Given the description of an element on the screen output the (x, y) to click on. 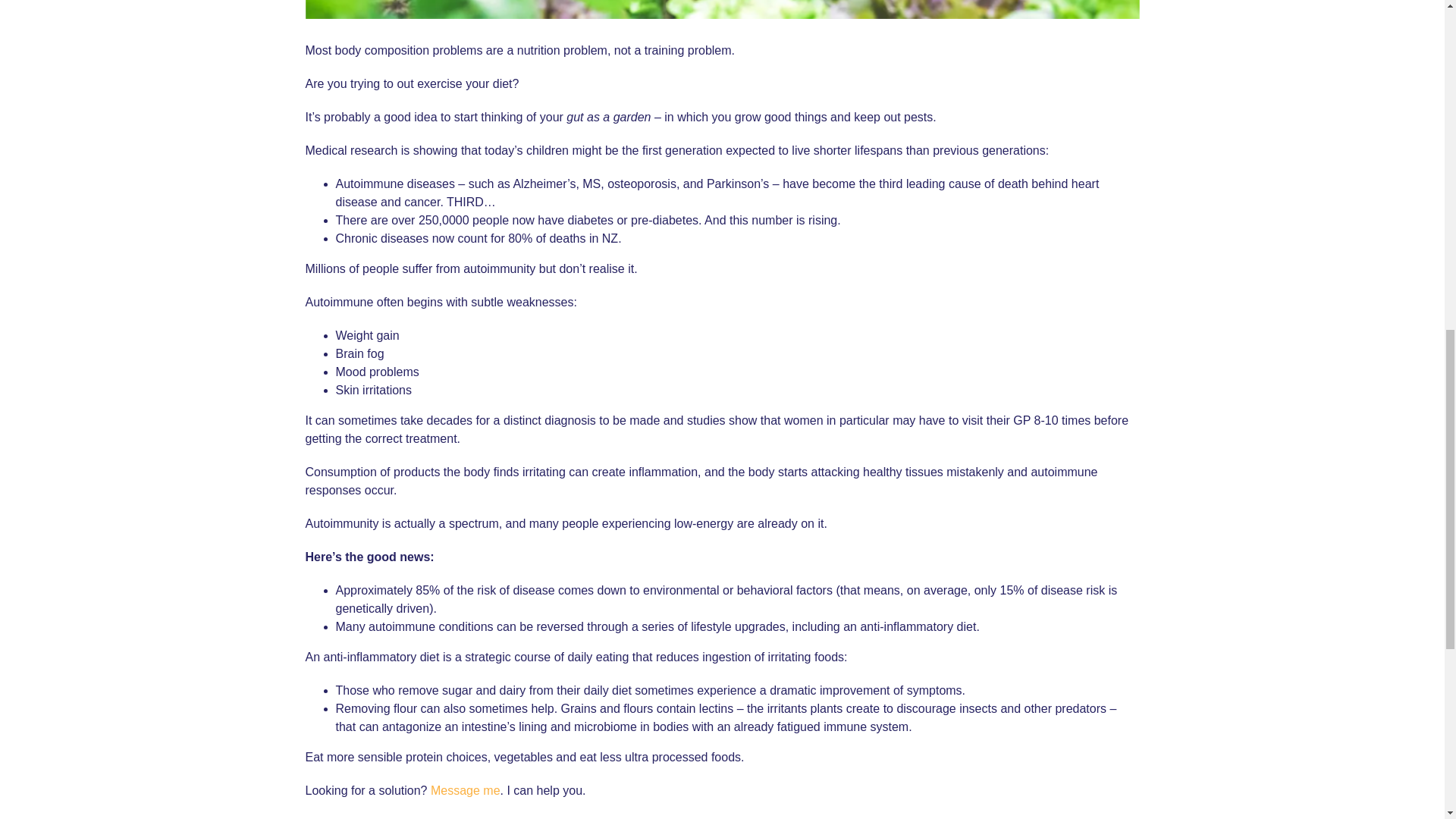
Message me (465, 789)
View Larger Image (721, 9)
